Given the description of an element on the screen output the (x, y) to click on. 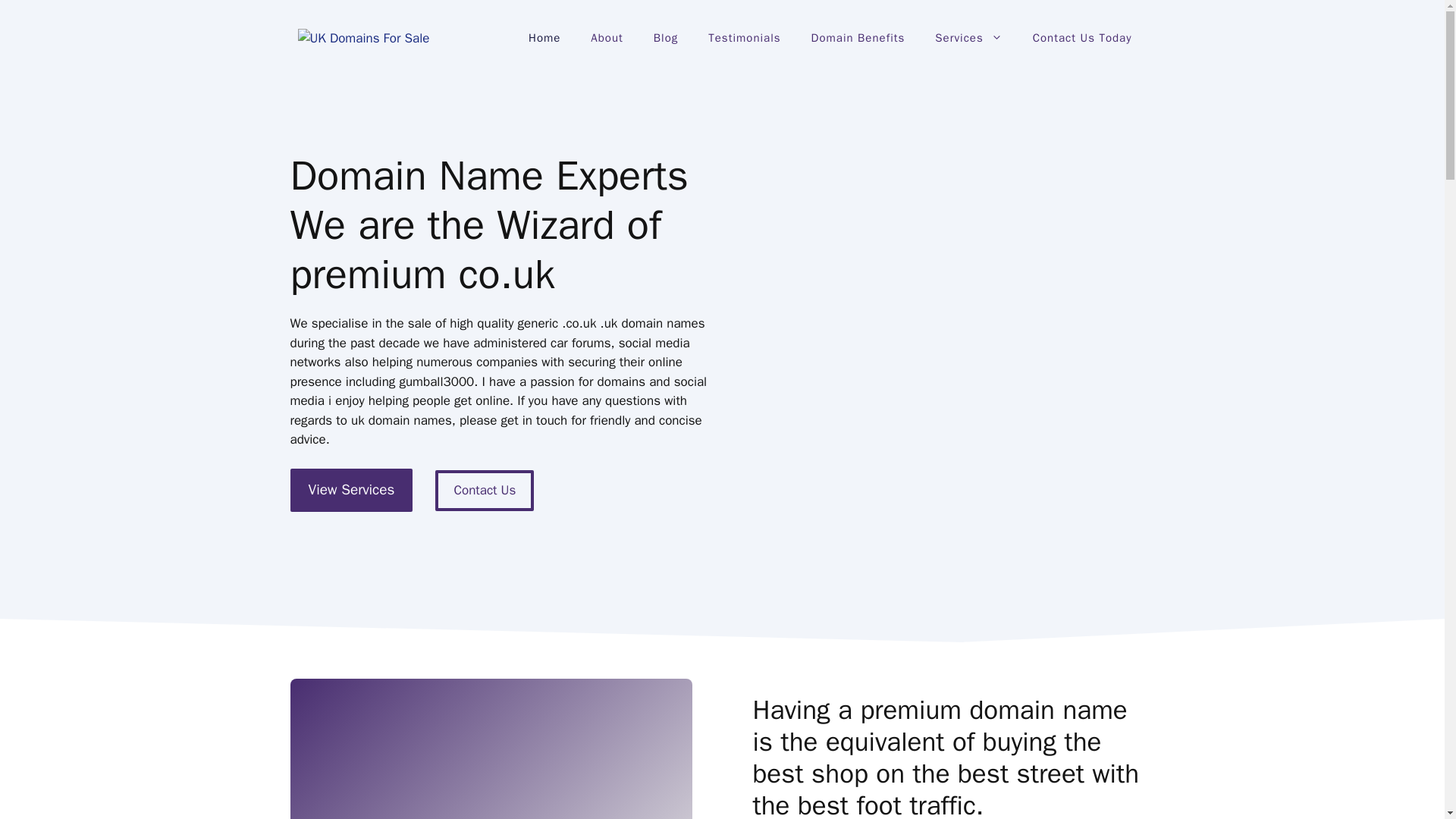
Contact Us Today (1082, 37)
Contact Us (484, 490)
View Services (350, 489)
Testimonials (743, 37)
Blog (666, 37)
Home (544, 37)
Services (968, 37)
About (606, 37)
Domain Benefits (858, 37)
